Given the description of an element on the screen output the (x, y) to click on. 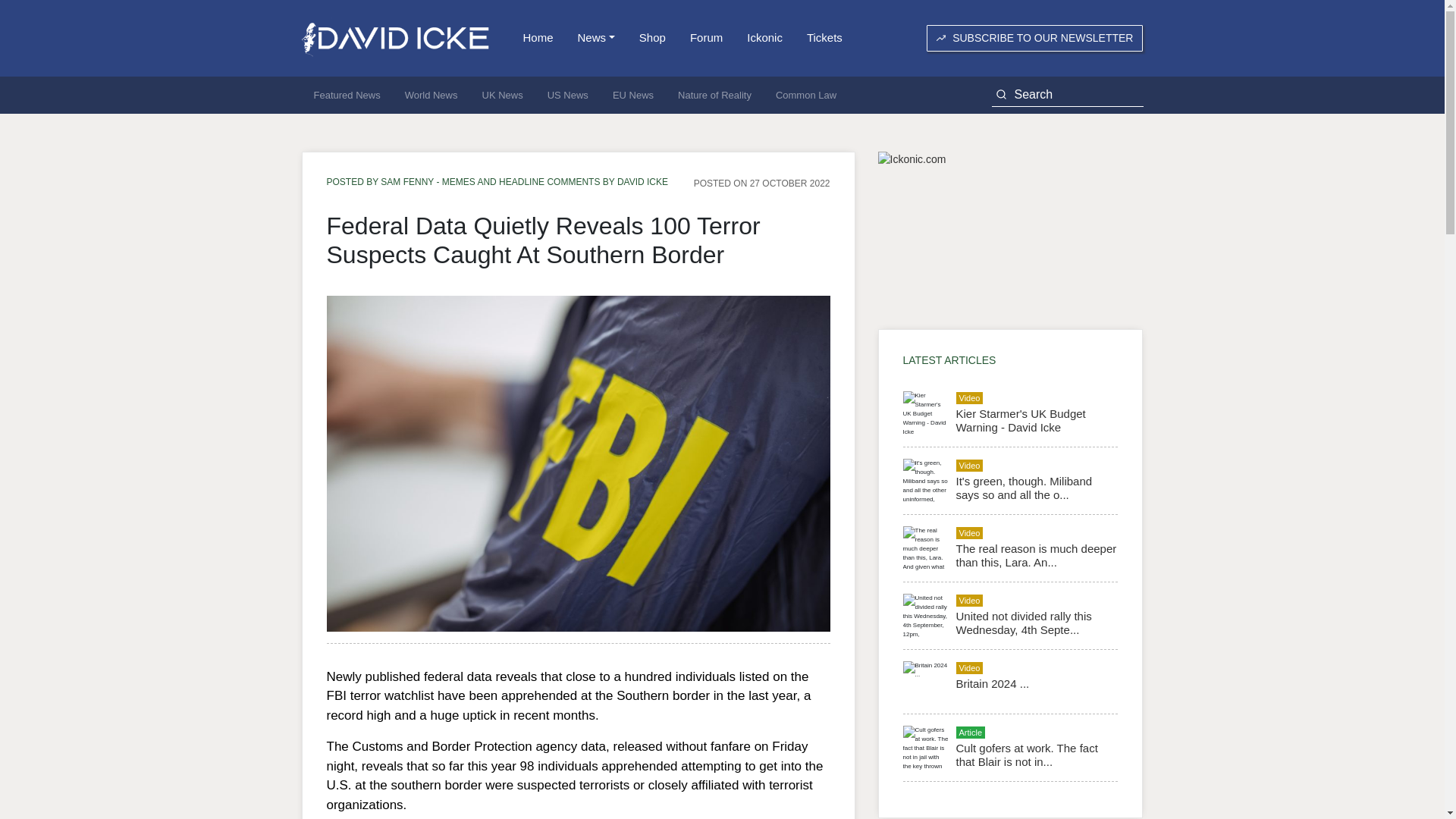
Featured News (347, 94)
SUBSCRIBE TO OUR NEWSLETTER (1034, 38)
Tickets (824, 37)
US News (567, 94)
UK News (502, 94)
Nature of Reality (713, 94)
Kier Starmer's UK Budget Warning - David Icke (1019, 420)
Home (538, 37)
